Given the description of an element on the screen output the (x, y) to click on. 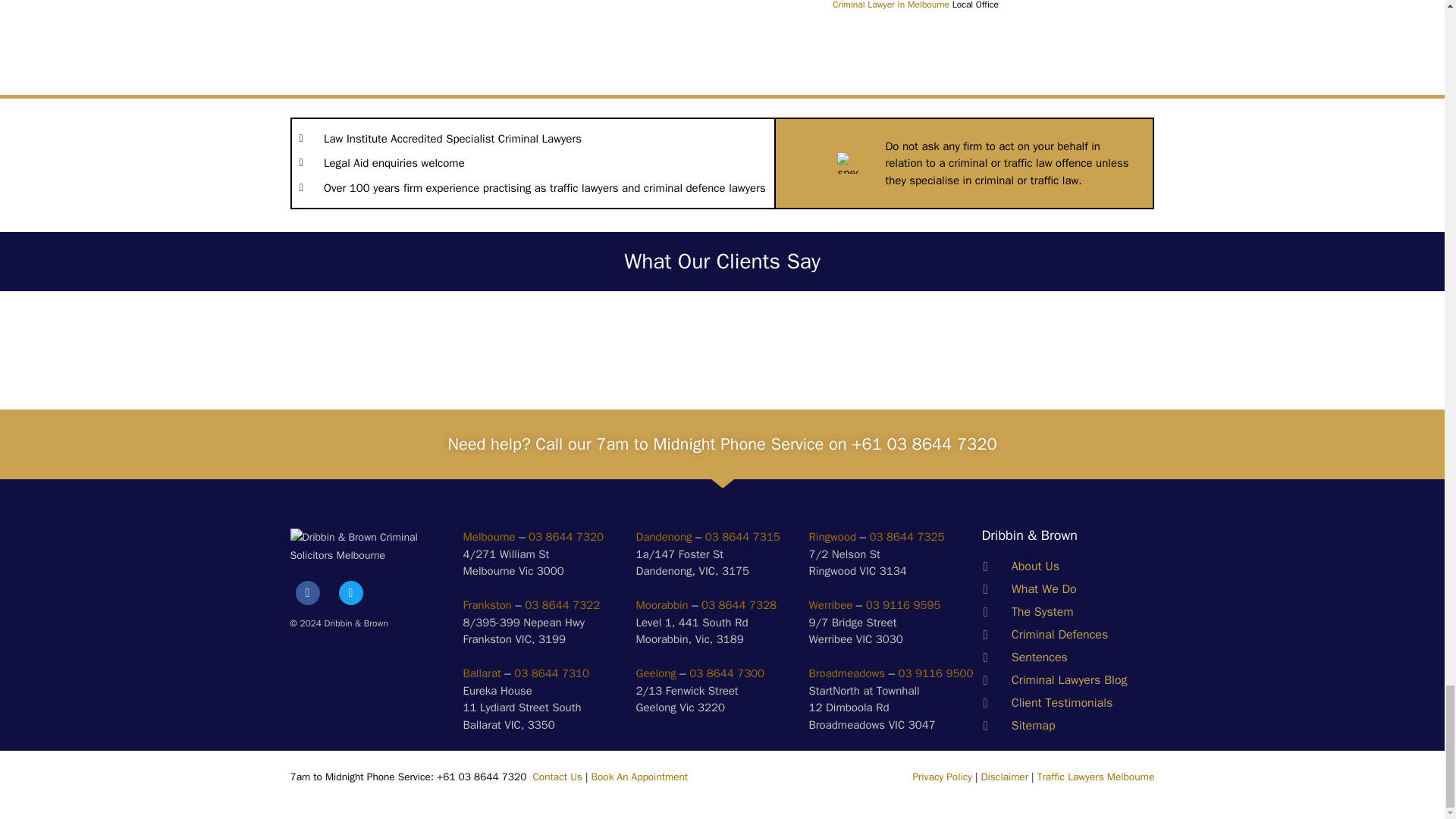
View contact details (487, 604)
View contact details (660, 604)
View contact details (481, 673)
View contact details (846, 673)
View contact details (489, 536)
View contact details (829, 604)
View contact details (654, 673)
View contact details (662, 536)
View contact details (832, 536)
